Given the description of an element on the screen output the (x, y) to click on. 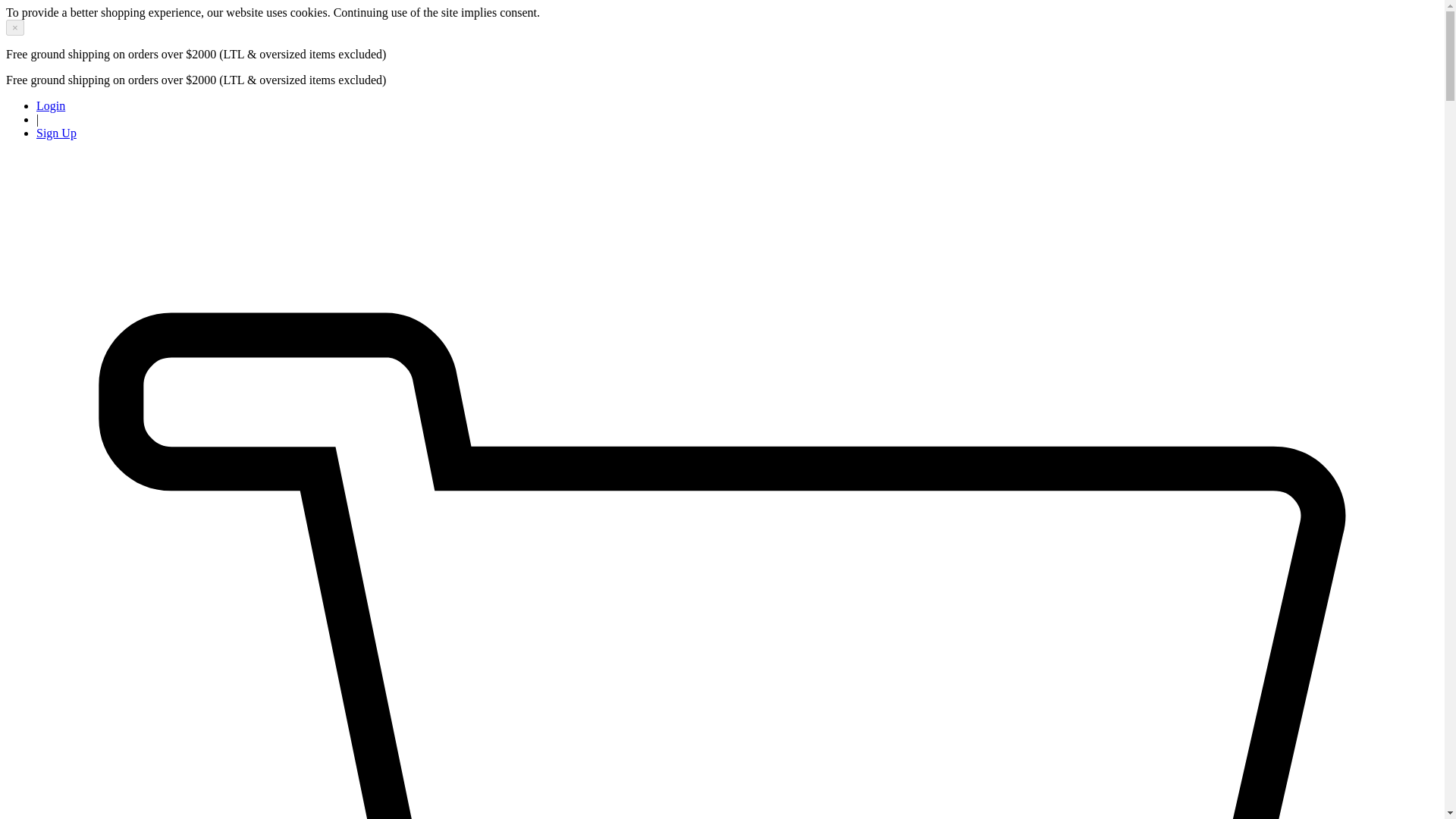
Sign Up (56, 132)
Login (50, 105)
